Given the description of an element on the screen output the (x, y) to click on. 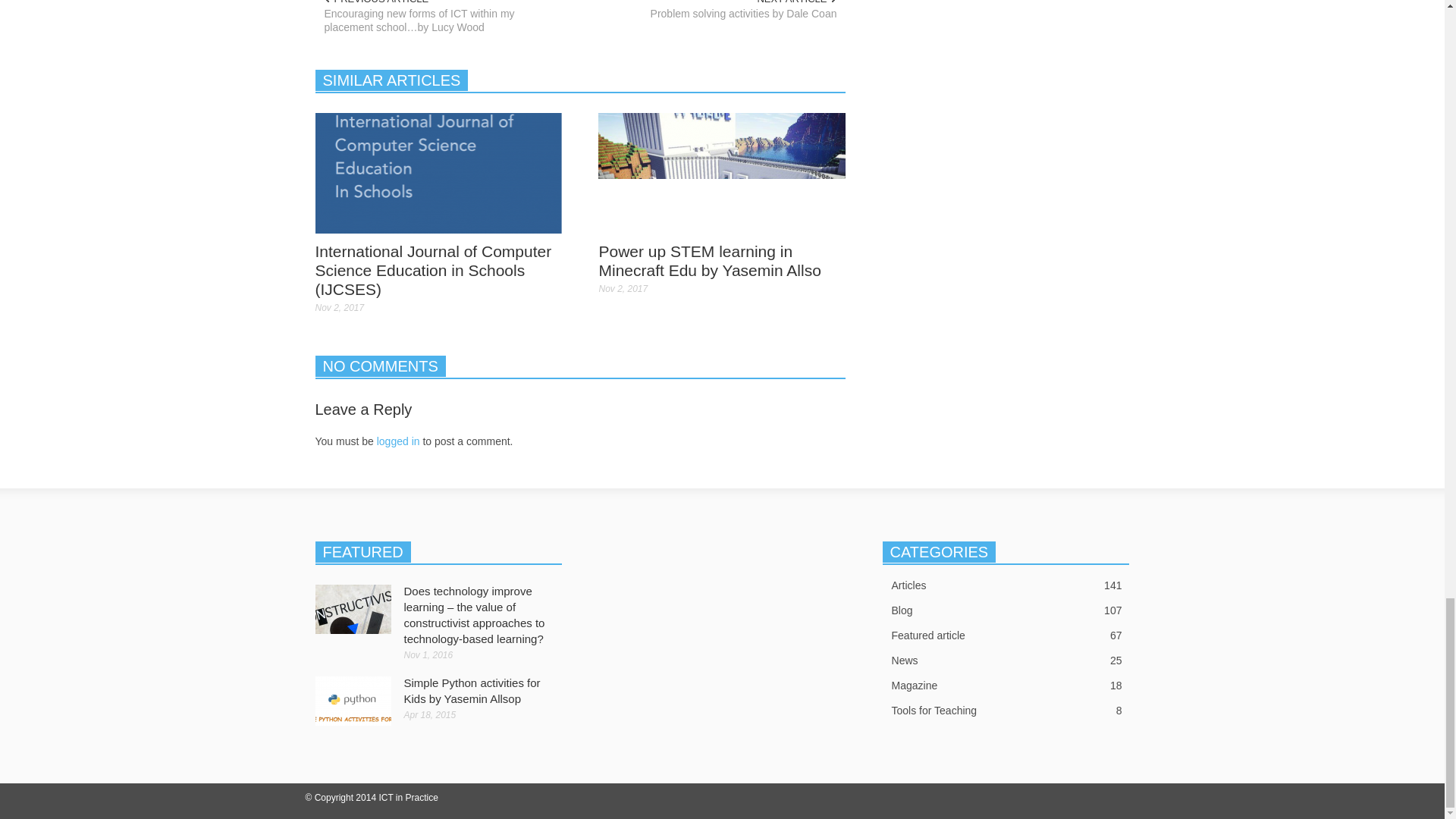
Power up STEM learning in Minecraft Edu by Yasemin Allso (709, 260)
Problem solving activities by Dale Coan (716, 13)
Power up STEM learning in Minecraft Edu  by Yasemin Allso (721, 172)
Power up STEM learning in Minecraft Edu  by Yasemin Allso (709, 260)
Power up STEM learning in Minecraft Edu  by Yasemin Allso (721, 173)
